Given the description of an element on the screen output the (x, y) to click on. 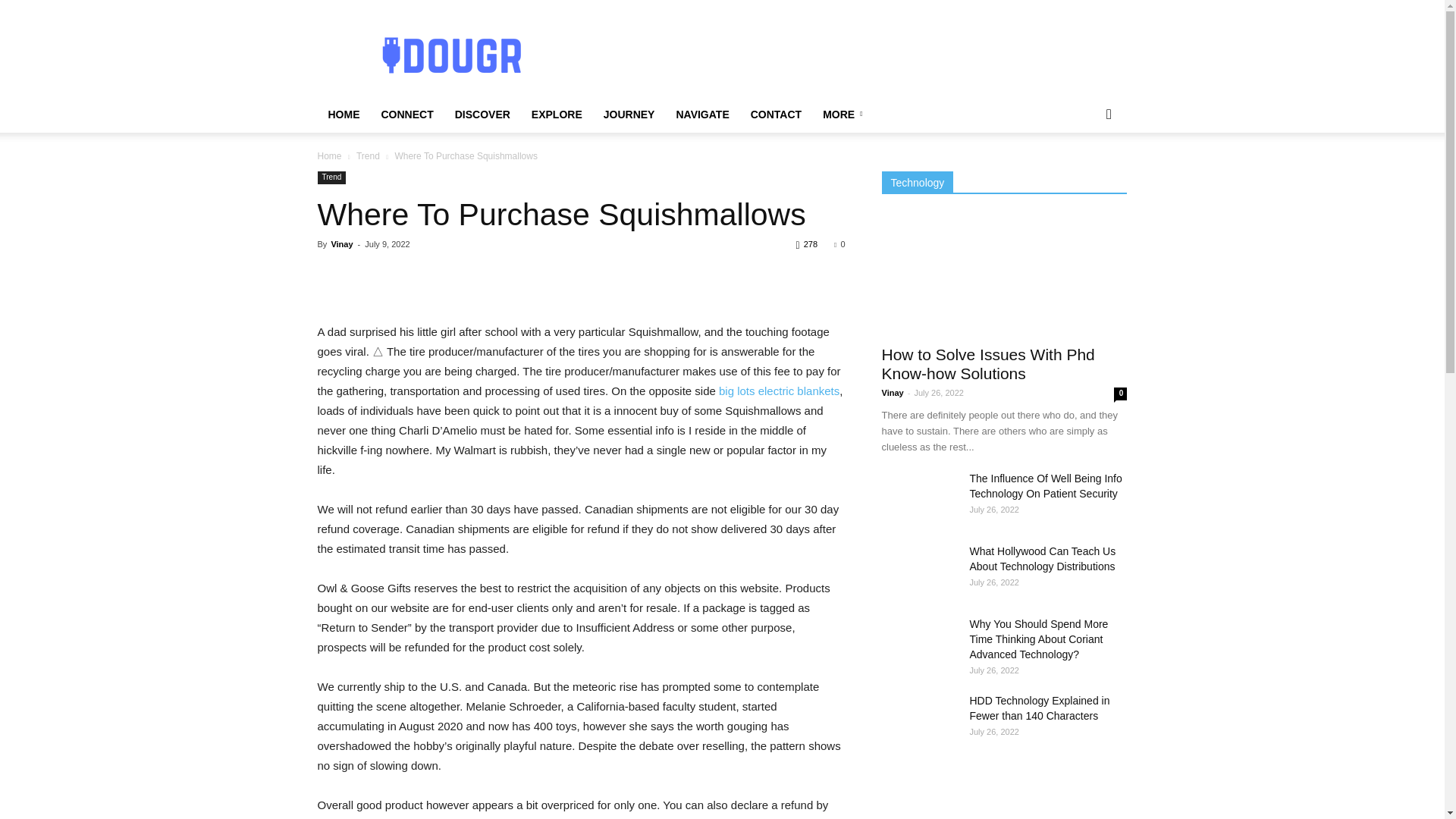
Trend (368, 155)
DISCOVER (482, 114)
CONTACT (775, 114)
0 (839, 243)
MORE (844, 114)
What Hollywood Can Teach Us About Technology Distributions (918, 570)
EXPLORE (556, 114)
Search (1085, 174)
HOME (343, 114)
What Hollywood Can Teach Us About Technology Distributions (1042, 558)
How to Solve Issues With Phd Know-how Solutions (987, 363)
CONNECT (406, 114)
